Given the description of an element on the screen output the (x, y) to click on. 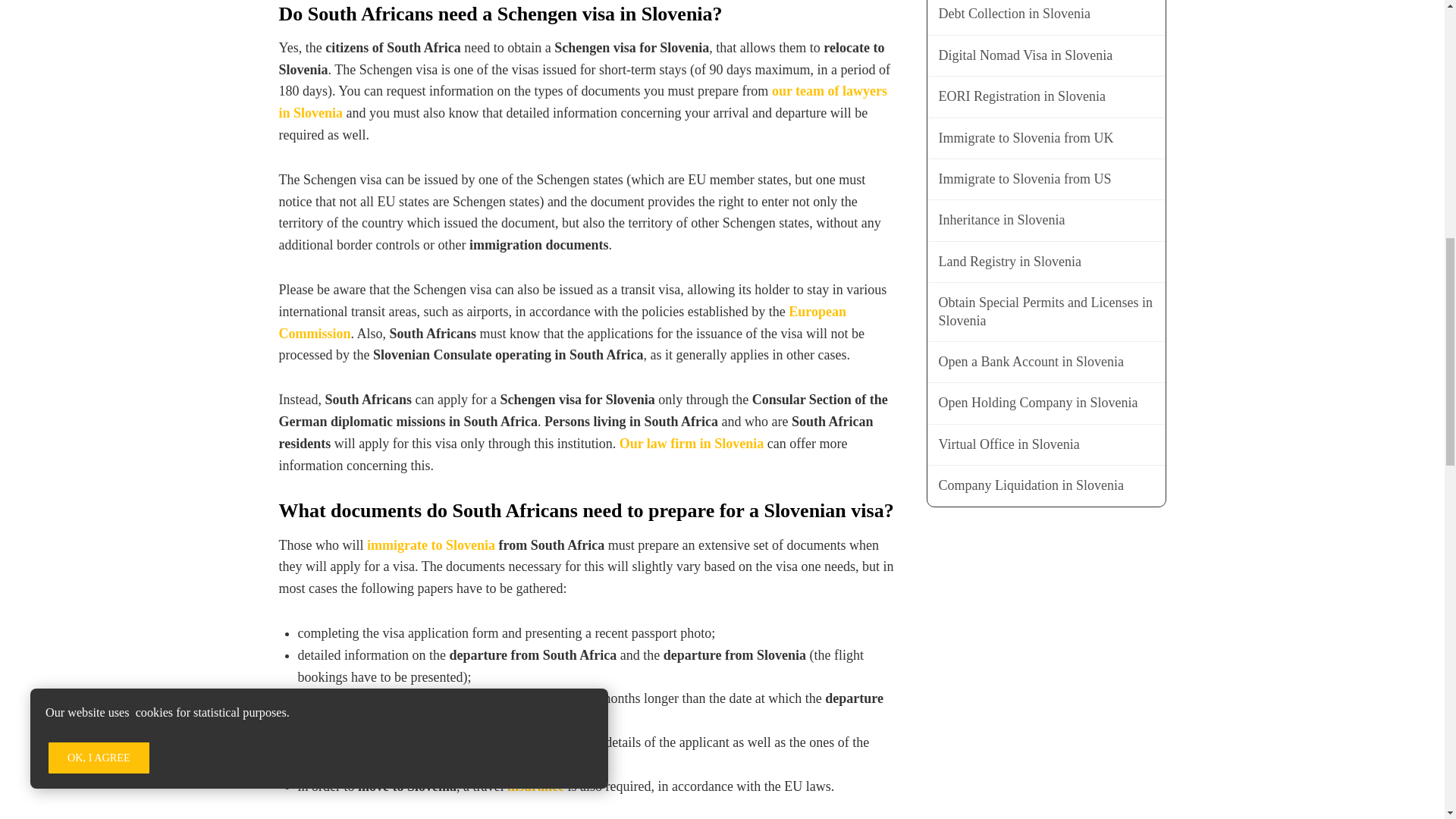
immigrate to Slovenia (430, 544)
insurance (535, 785)
European Commission (562, 322)
Our law firm in Slovenia (692, 443)
our team of lawyers in Slovenia (583, 101)
